Given the description of an element on the screen output the (x, y) to click on. 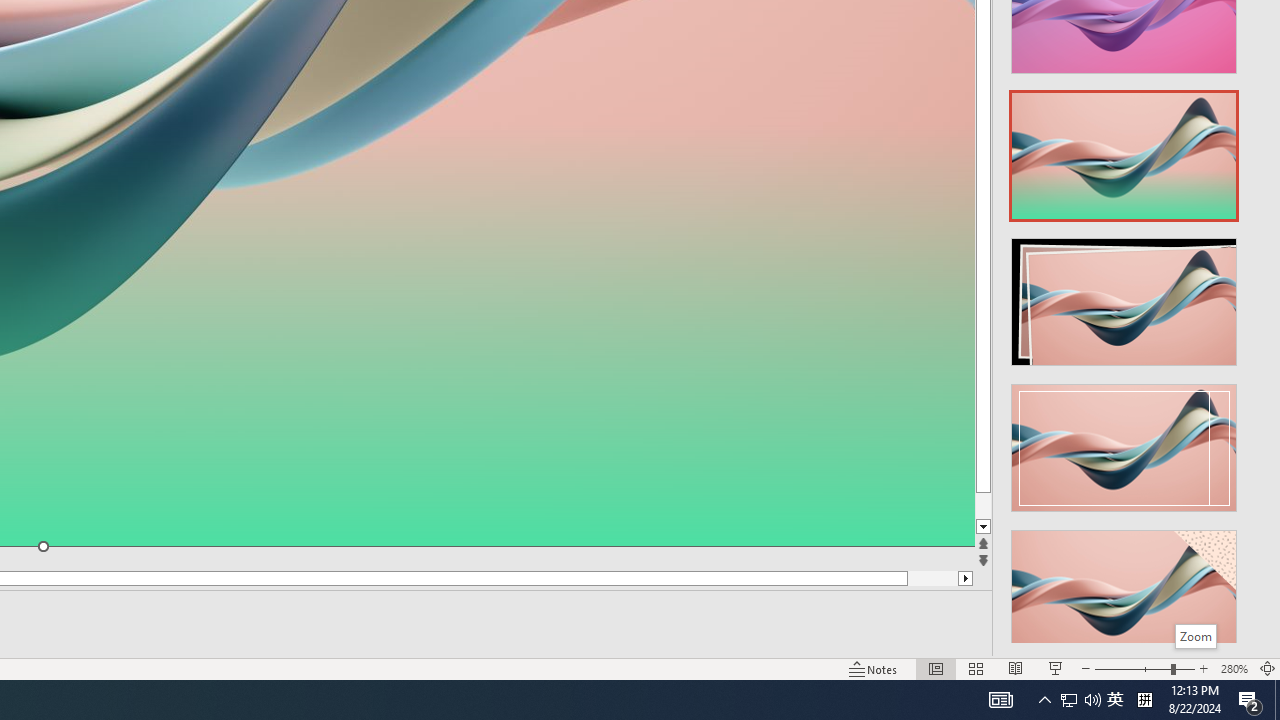
Zoom 280% (1234, 668)
